Given the description of an element on the screen output the (x, y) to click on. 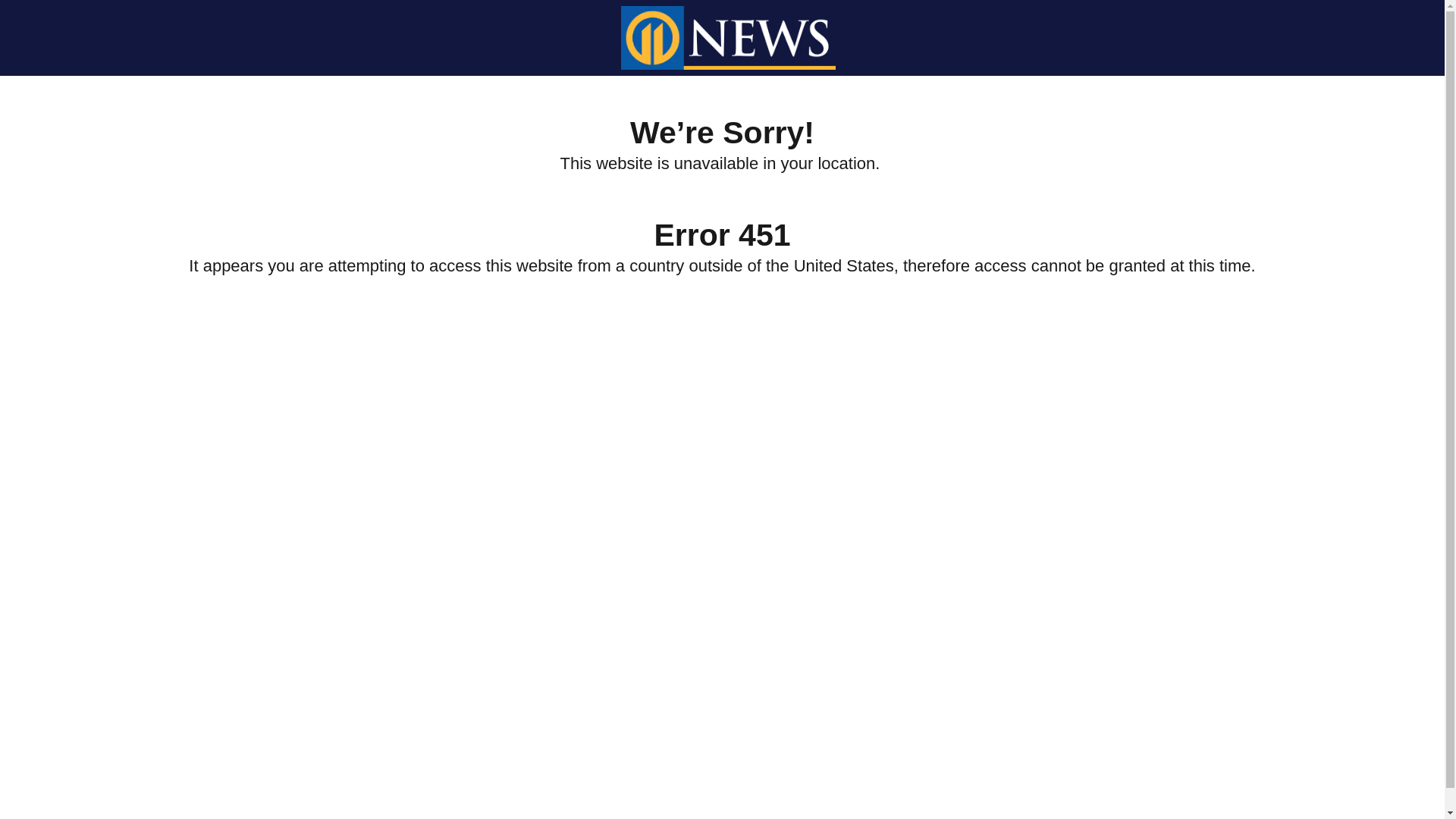
WPXI Channel 11 Pittsburgh Logo (728, 37)
